Given the description of an element on the screen output the (x, y) to click on. 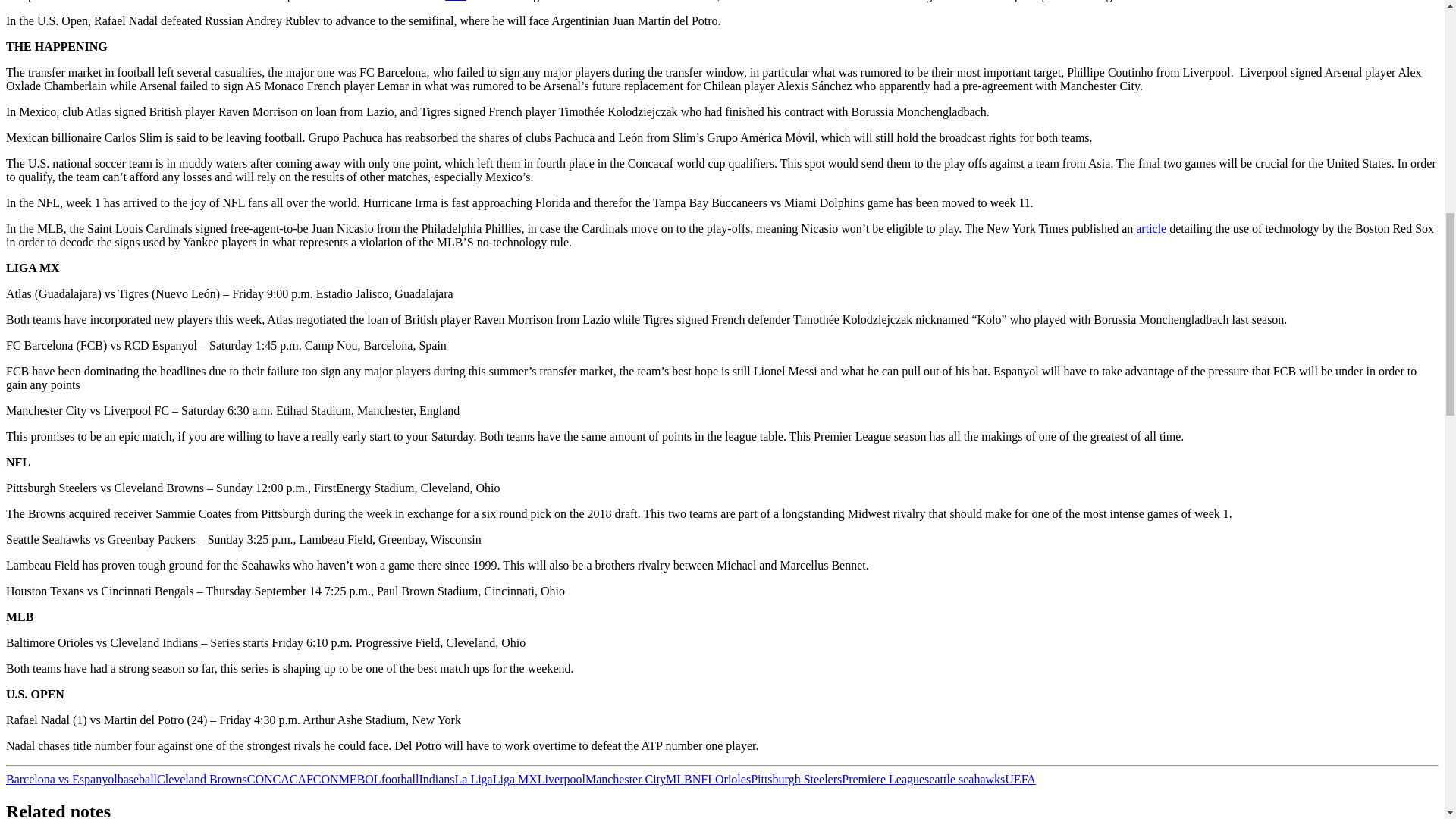
La Liga (473, 779)
Cleveland Browns (202, 779)
Manchester City (625, 779)
Indians (436, 779)
CONCACAF (280, 779)
article (1150, 228)
football (400, 779)
Liga MX (515, 779)
MLB (679, 779)
Liverpool (561, 779)
